Given the description of an element on the screen output the (x, y) to click on. 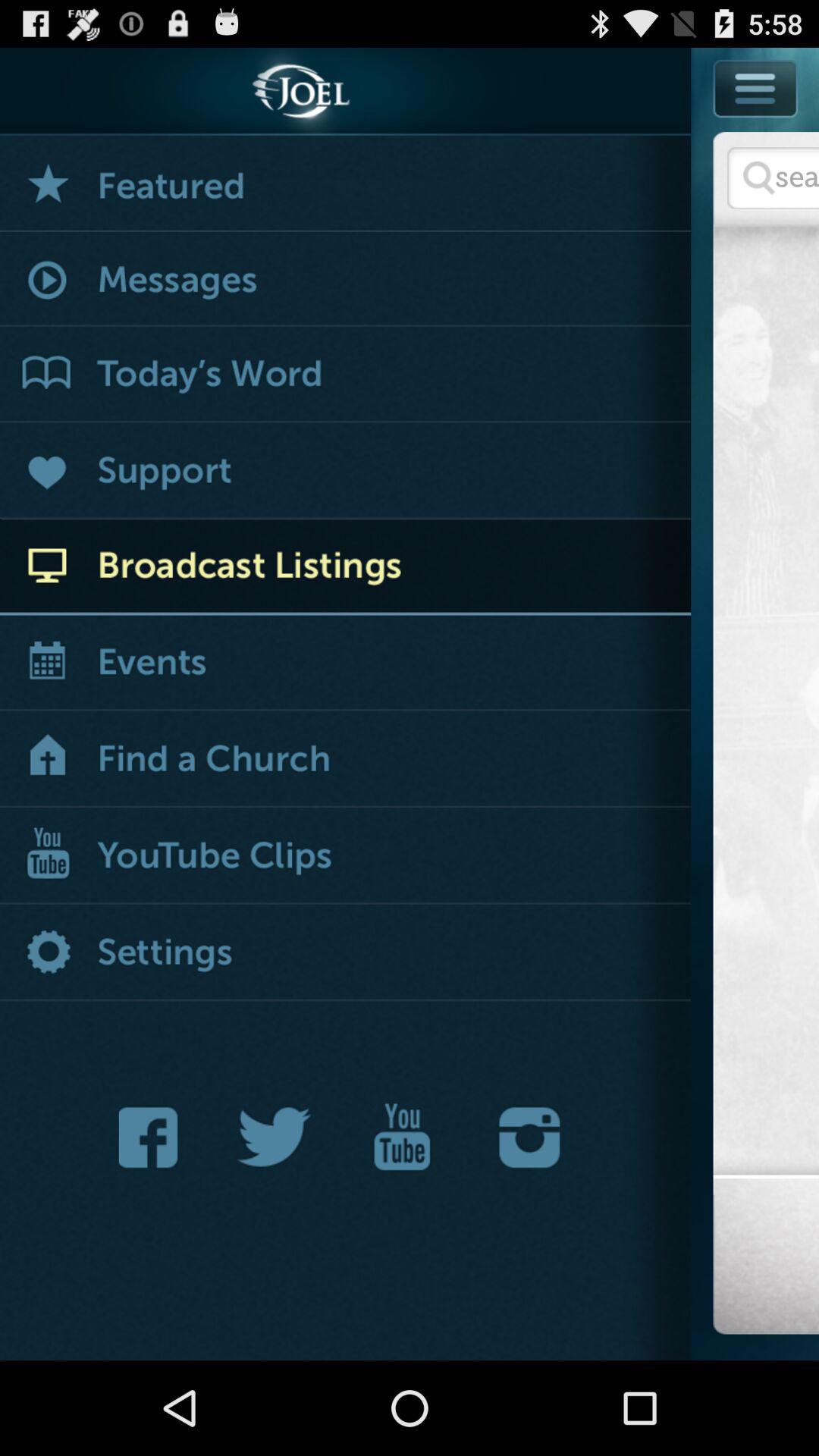
broadcast listings (345, 566)
